Given the description of an element on the screen output the (x, y) to click on. 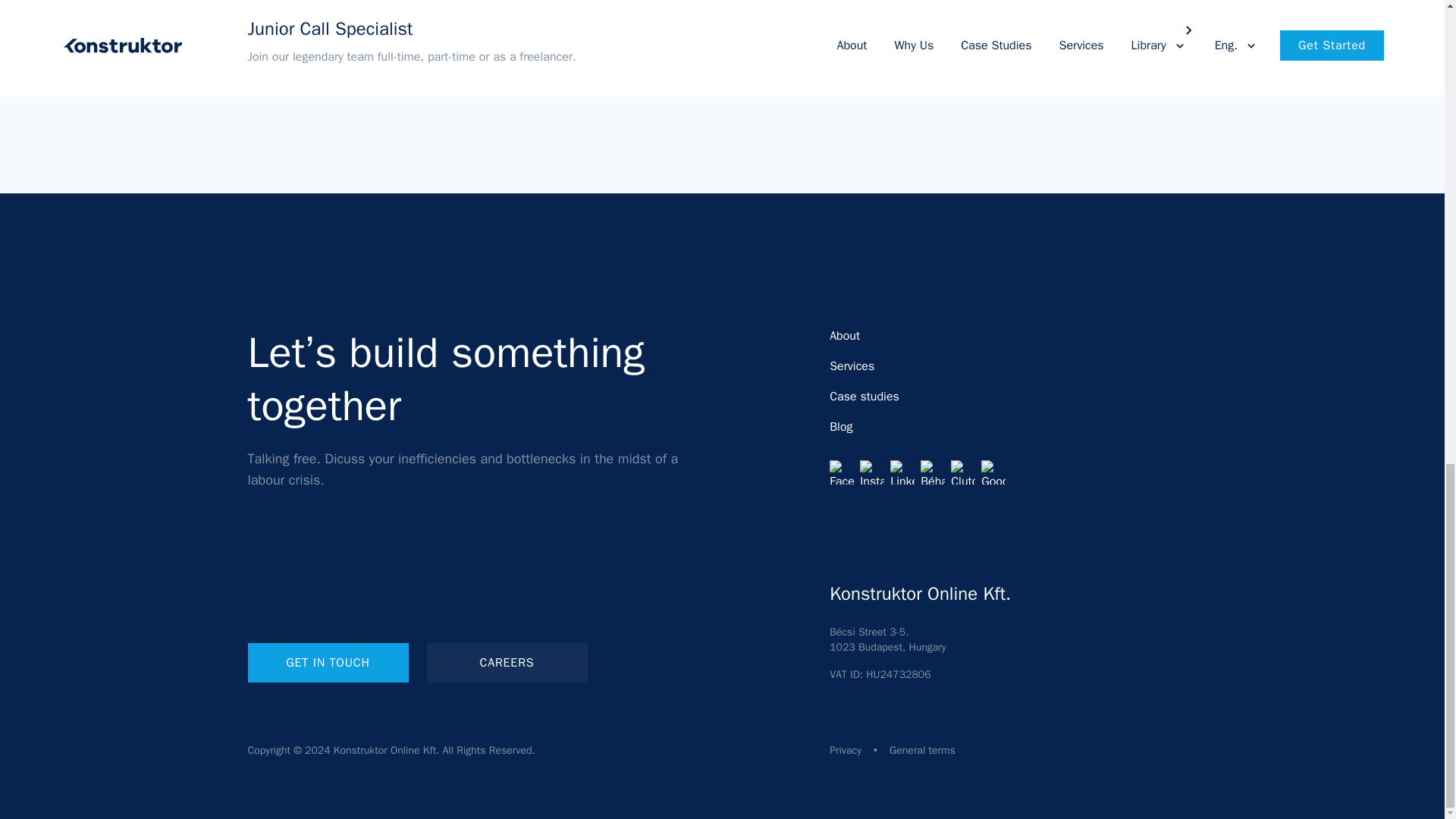
About (844, 335)
Konstruktor Online on Instagram (871, 472)
Konstruktor Online on Behance (932, 472)
GET IN TOUCH (327, 662)
KonstruktorOnline Facebook (841, 472)
Services (852, 365)
General terms (922, 749)
Konstruktor Online on LinkedIn (901, 472)
Privacy (845, 749)
Blog (840, 426)
CAREERS (506, 662)
Konstruktor Online on Clutch (962, 472)
Konstruktor Online on GoodFirms (993, 472)
Case studies (864, 396)
